Given the description of an element on the screen output the (x, y) to click on. 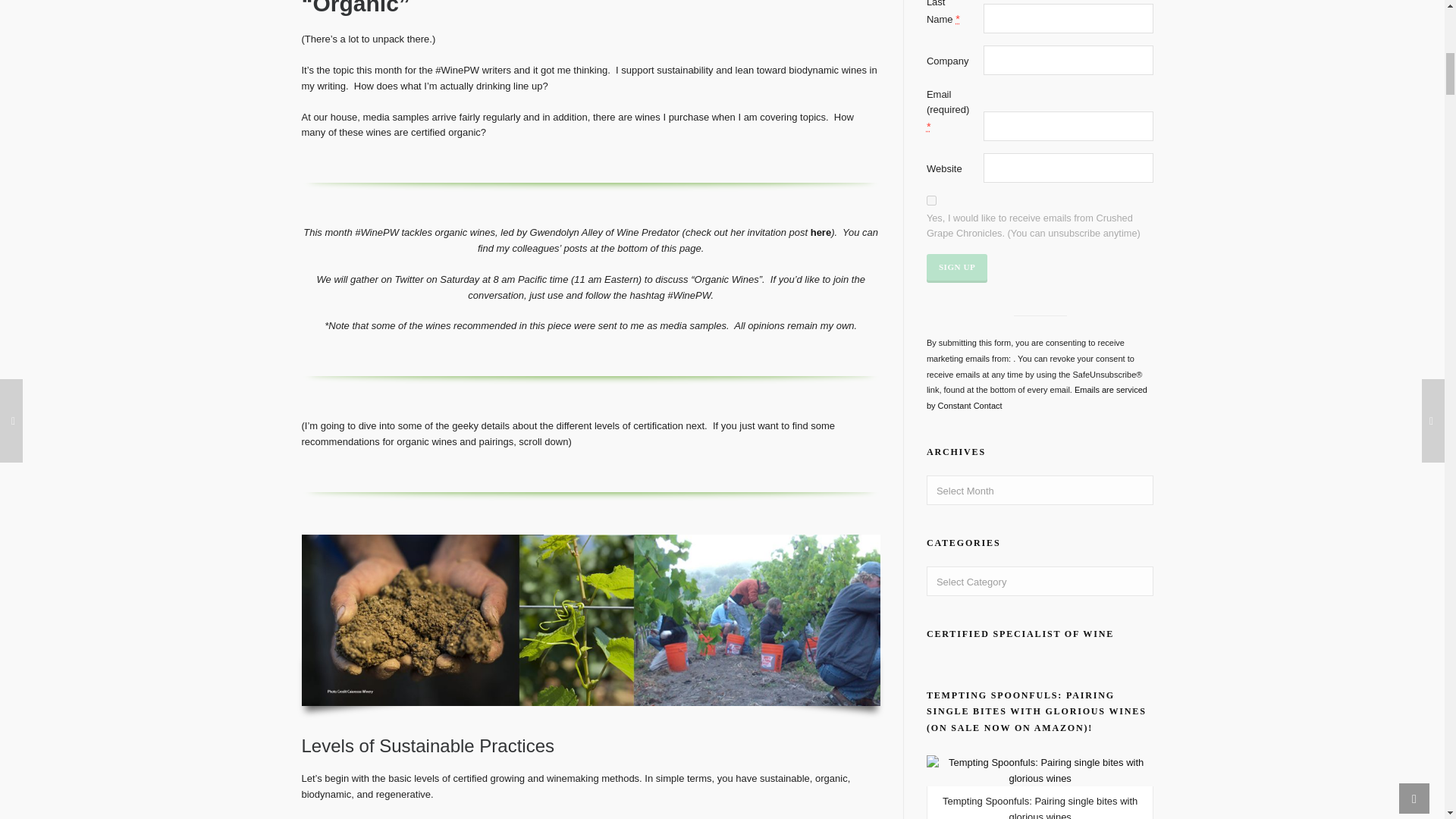
1 (931, 200)
Sign up (956, 266)
